Given the description of an element on the screen output the (x, y) to click on. 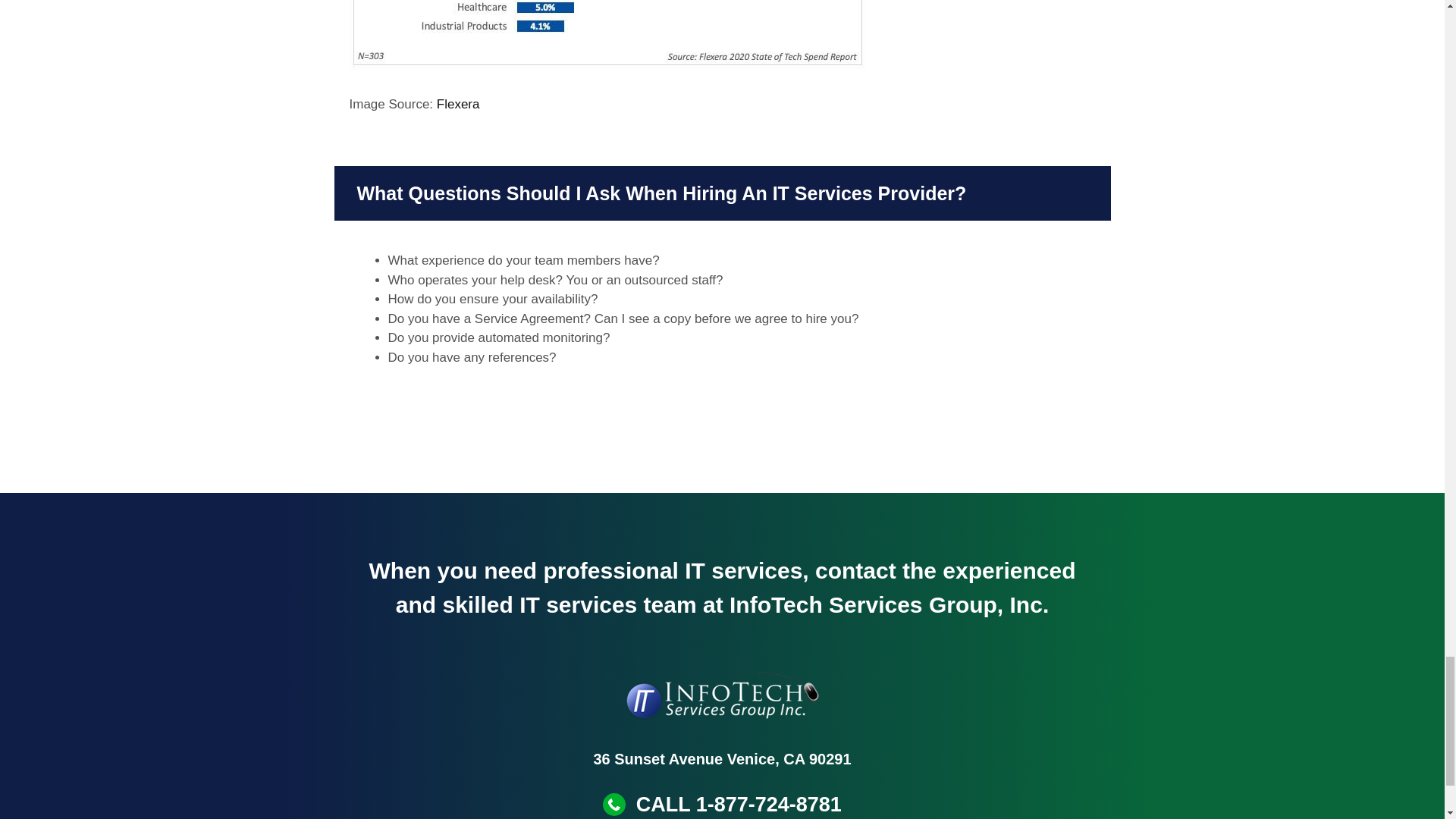
CALL 1-877-724-8781 (738, 804)
Flexera (458, 104)
36 Sunset Avenue Venice, CA 90291 (721, 759)
